Given the description of an element on the screen output the (x, y) to click on. 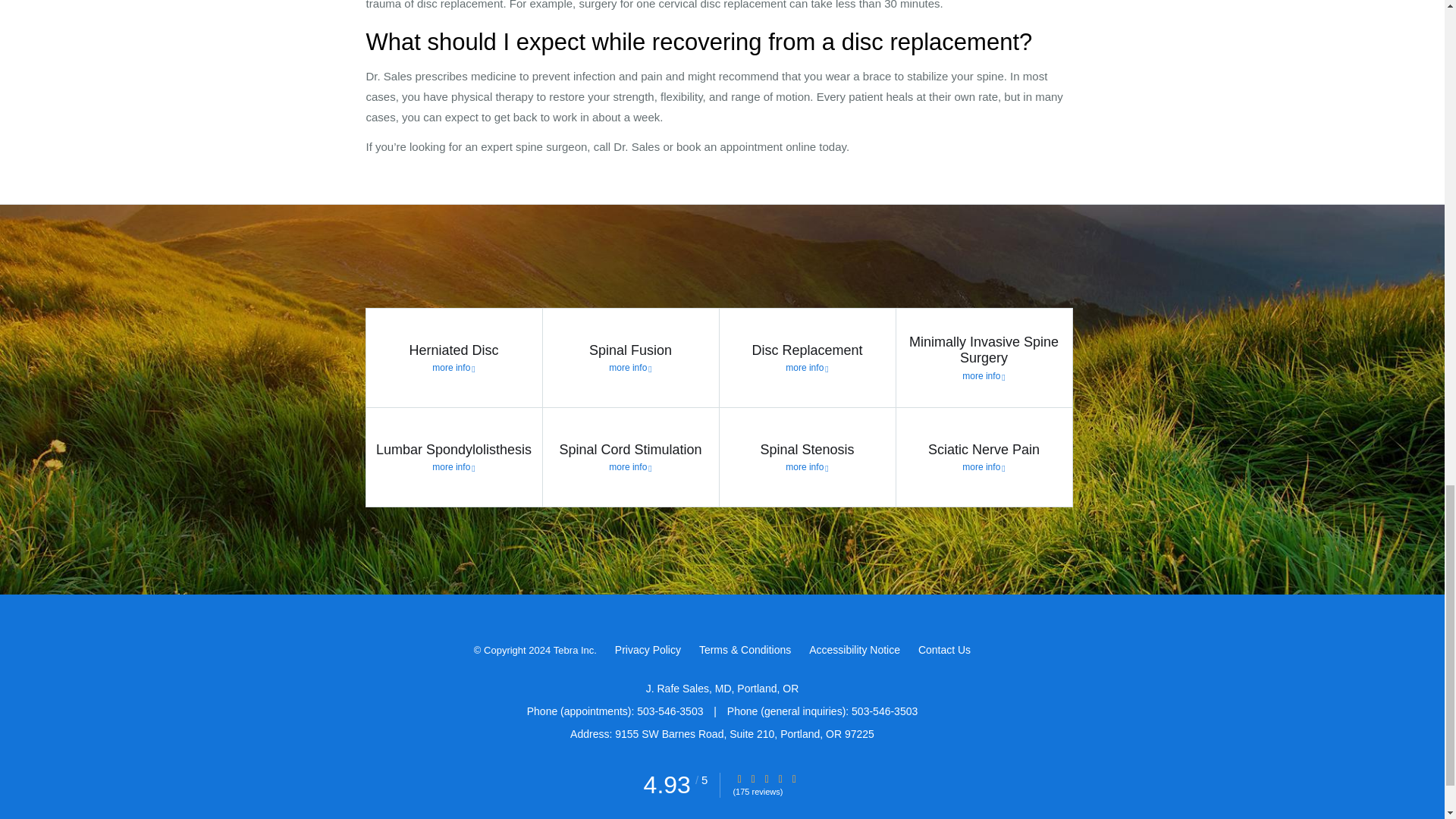
Star Rating (753, 778)
Star Rating (794, 778)
Star Rating (766, 778)
Star Rating (780, 778)
Star Rating (738, 778)
